Given the description of an element on the screen output the (x, y) to click on. 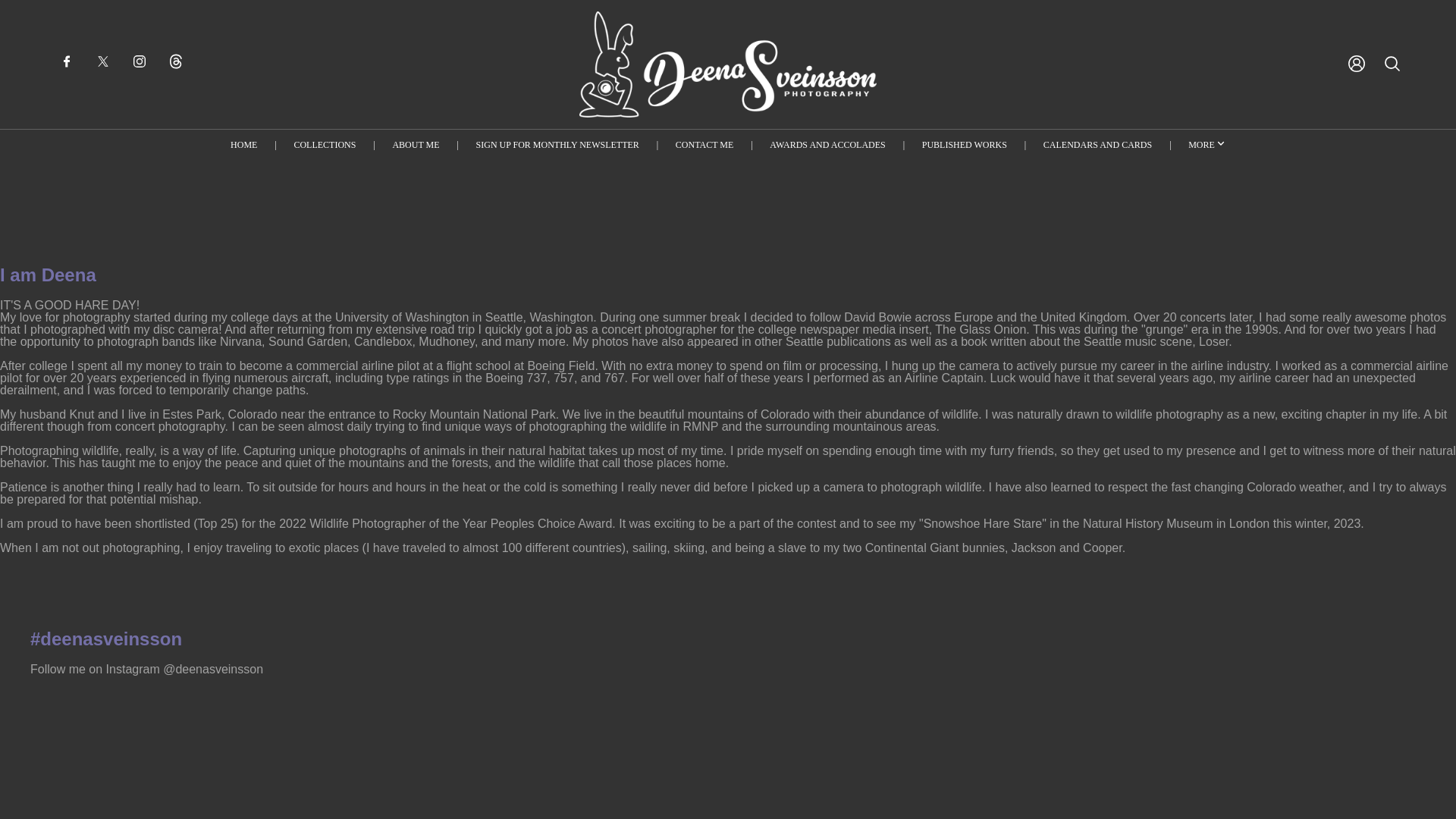
MORE (1206, 144)
PUBLISHED WORKS (964, 144)
CALENDARS AND CARDS (1097, 144)
AWARDS AND ACCOLADES (827, 144)
HOME (243, 144)
COLLECTIONS (324, 144)
CONTACT ME (704, 144)
SIGN UP FOR MONTHLY NEWSLETTER (557, 144)
ABOUT ME (415, 144)
